Given the description of an element on the screen output the (x, y) to click on. 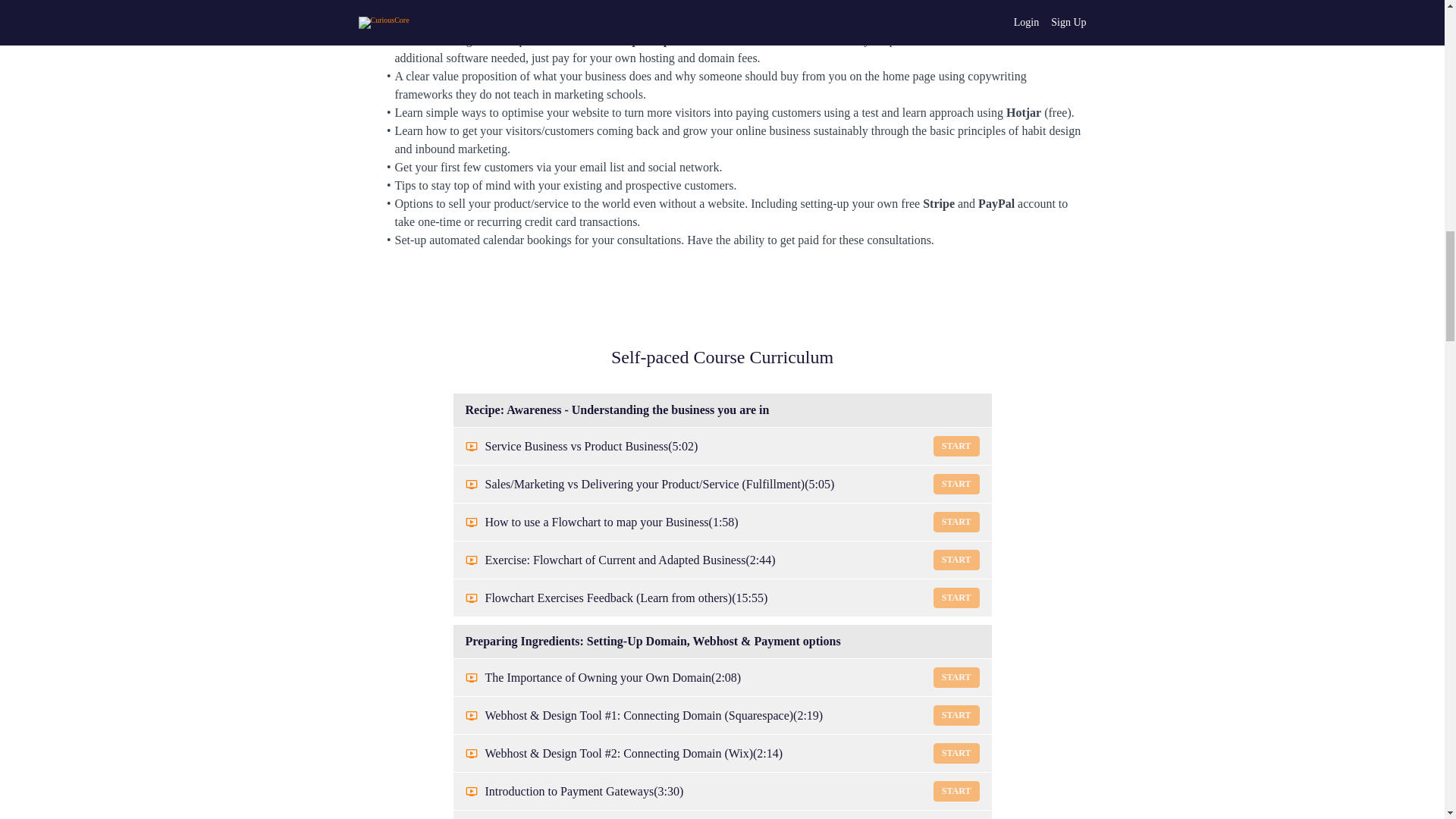
START (956, 484)
START (956, 752)
START (956, 521)
START (956, 559)
START (956, 677)
START (956, 715)
START (956, 598)
START (956, 791)
START (956, 445)
